Given the description of an element on the screen output the (x, y) to click on. 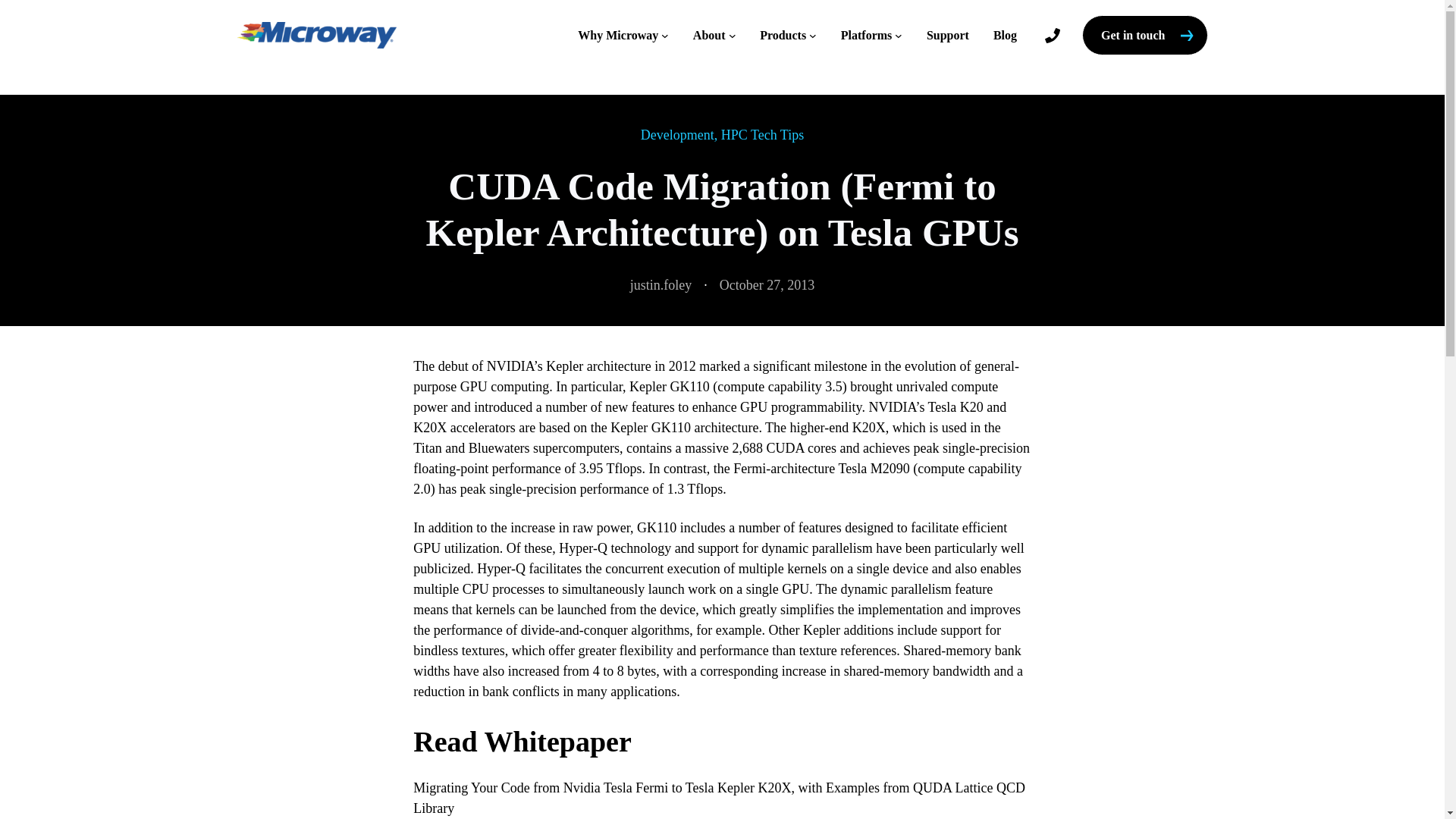
HPC Tech Tips (761, 134)
Development (677, 134)
Get in touch (1144, 35)
Why Microway (618, 35)
Platforms (866, 35)
About (709, 35)
Support (947, 35)
Products (783, 35)
Blog (1004, 35)
